Given the description of an element on the screen output the (x, y) to click on. 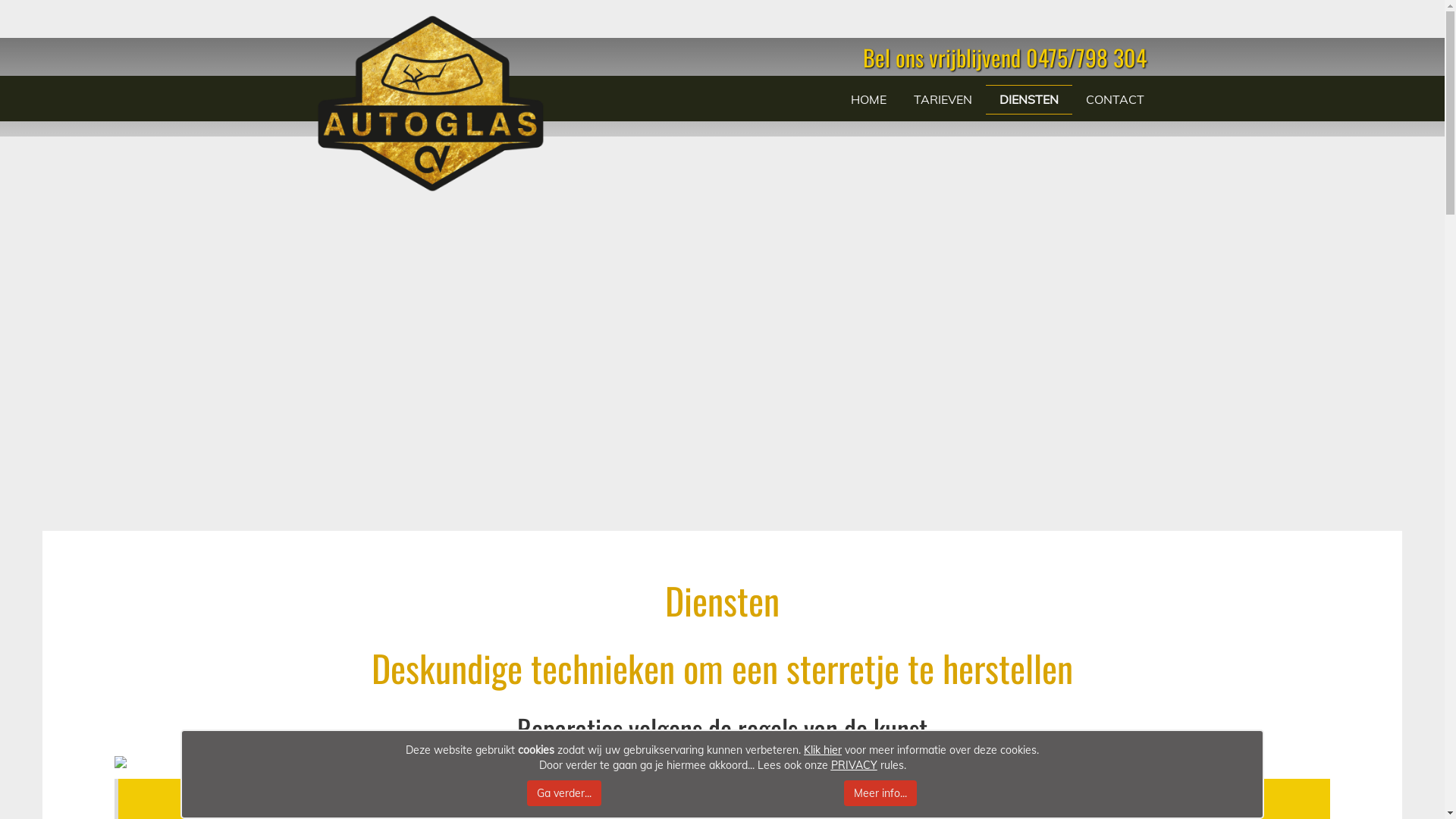
Meer info... Element type: text (880, 793)
HOME Element type: text (868, 99)
CONTACT Element type: text (1114, 99)
TARIEVEN Element type: text (942, 99)
Bel ons vrijblijvend 0475/798 304 Element type: text (1004, 57)
PRIVACY Element type: text (854, 764)
Ga verder... Element type: text (564, 793)
Klik hier Element type: text (822, 749)
DIENSTEN Element type: text (1028, 99)
